Given the description of an element on the screen output the (x, y) to click on. 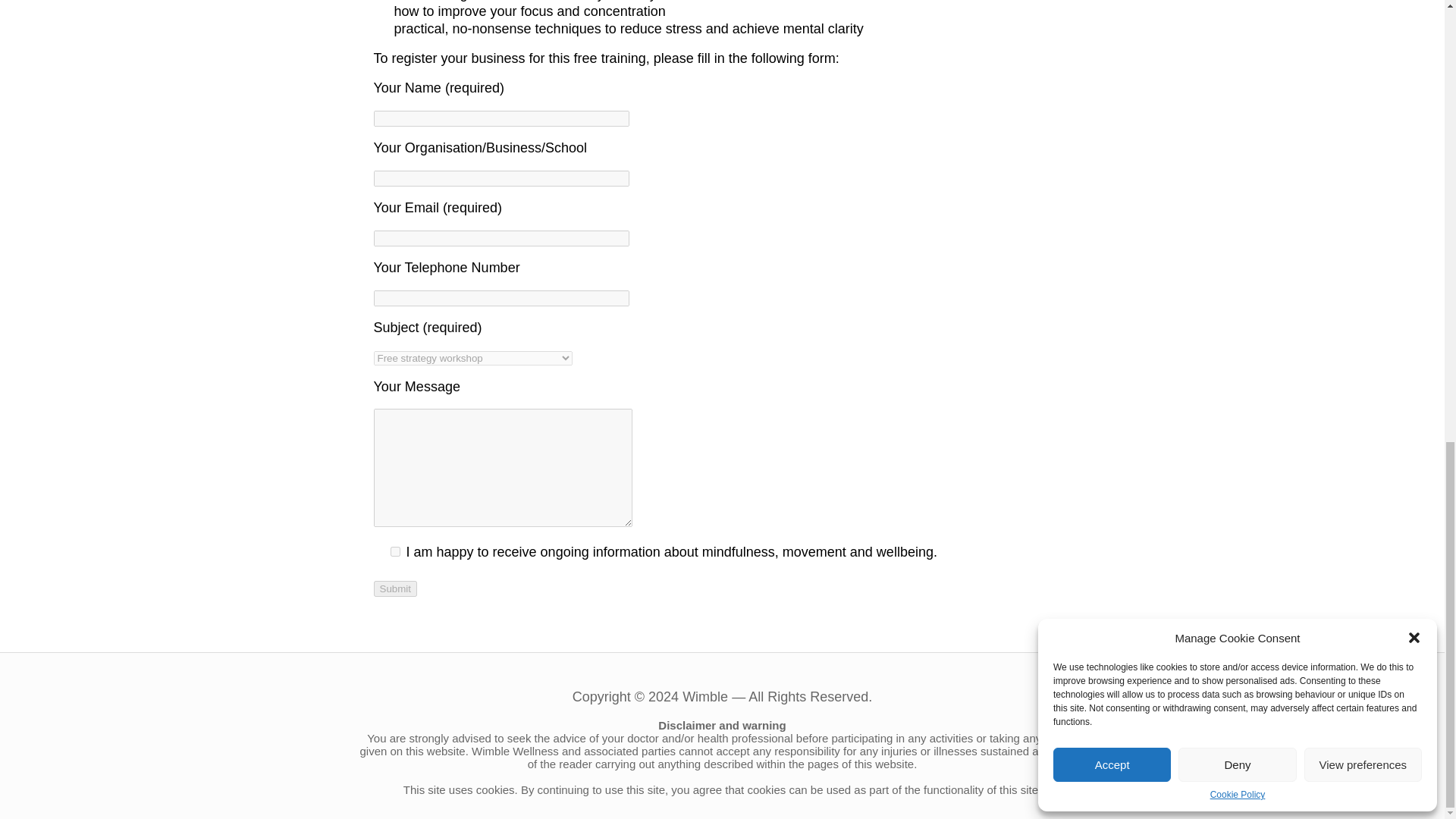
Submit (394, 587)
Submit (394, 587)
